Given the description of an element on the screen output the (x, y) to click on. 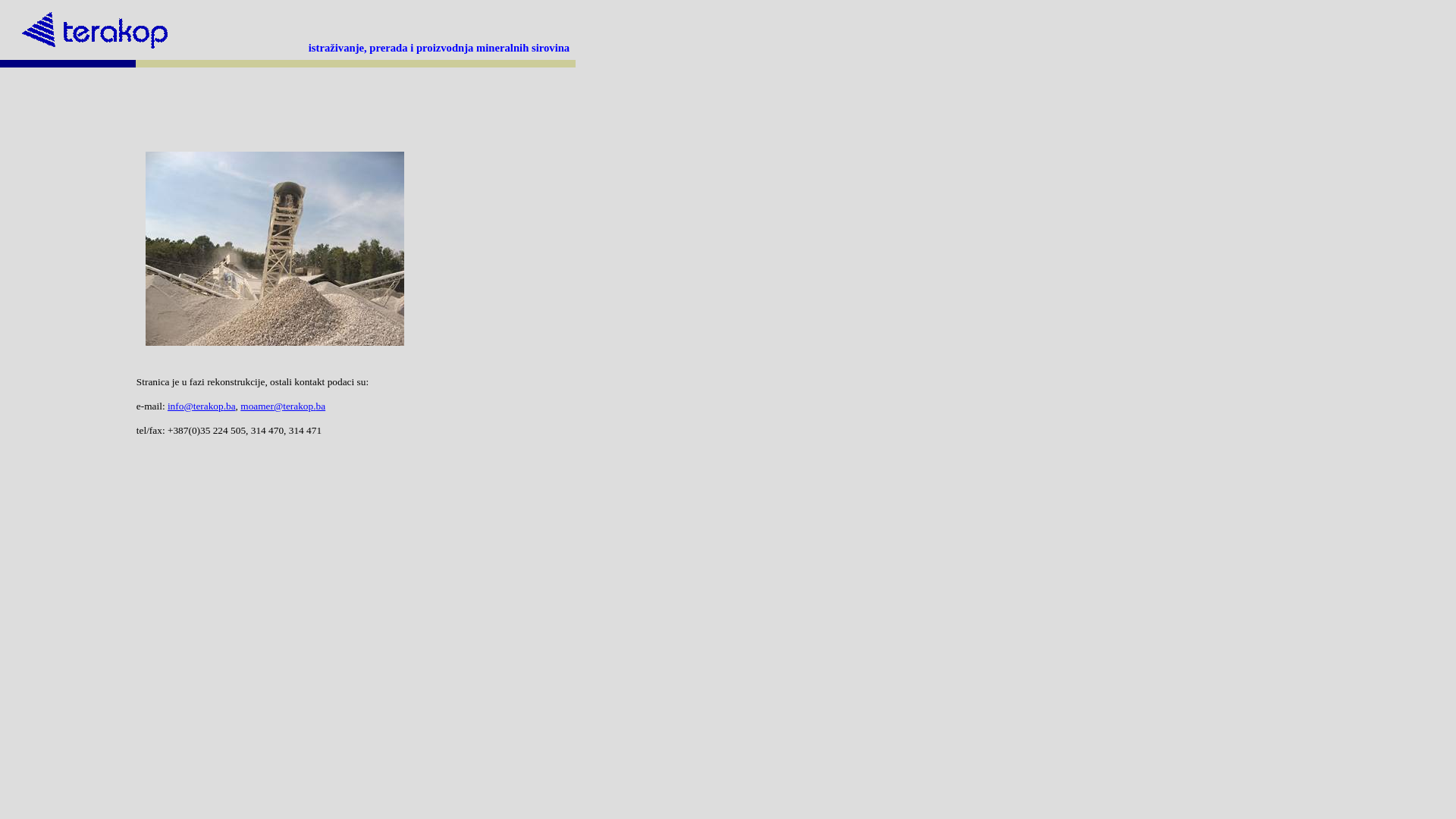
moamer@terakop.ba Element type: text (282, 405)
info@terakop.ba Element type: text (201, 405)
